Given the description of an element on the screen output the (x, y) to click on. 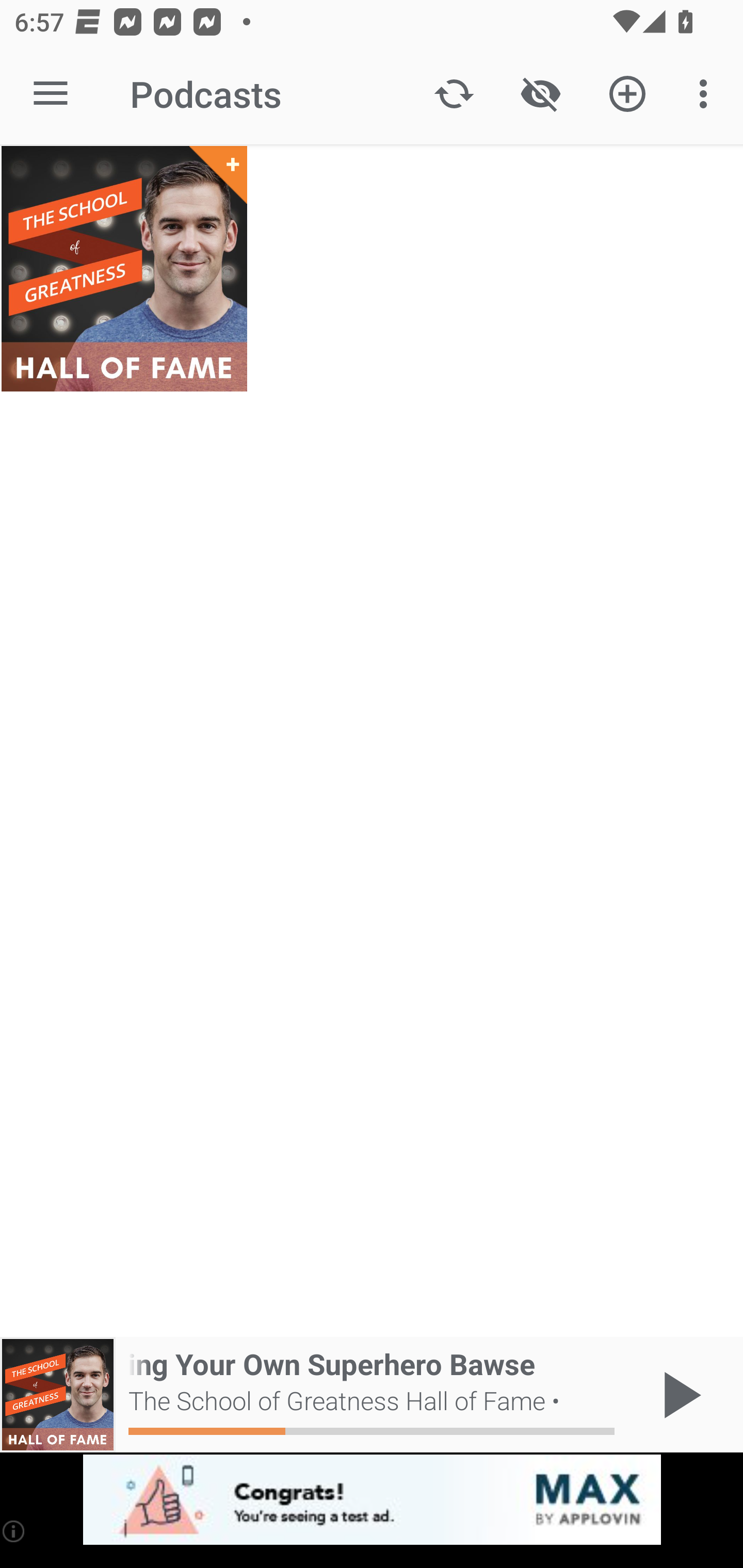
Open navigation sidebar (50, 93)
Update (453, 93)
Show / Hide played content (540, 93)
Add new Podcast (626, 93)
More options (706, 93)
The School of Greatness Hall of Fame + (124, 268)
Play / Pause (677, 1394)
app-monetization (371, 1500)
(i) (14, 1531)
